Given the description of an element on the screen output the (x, y) to click on. 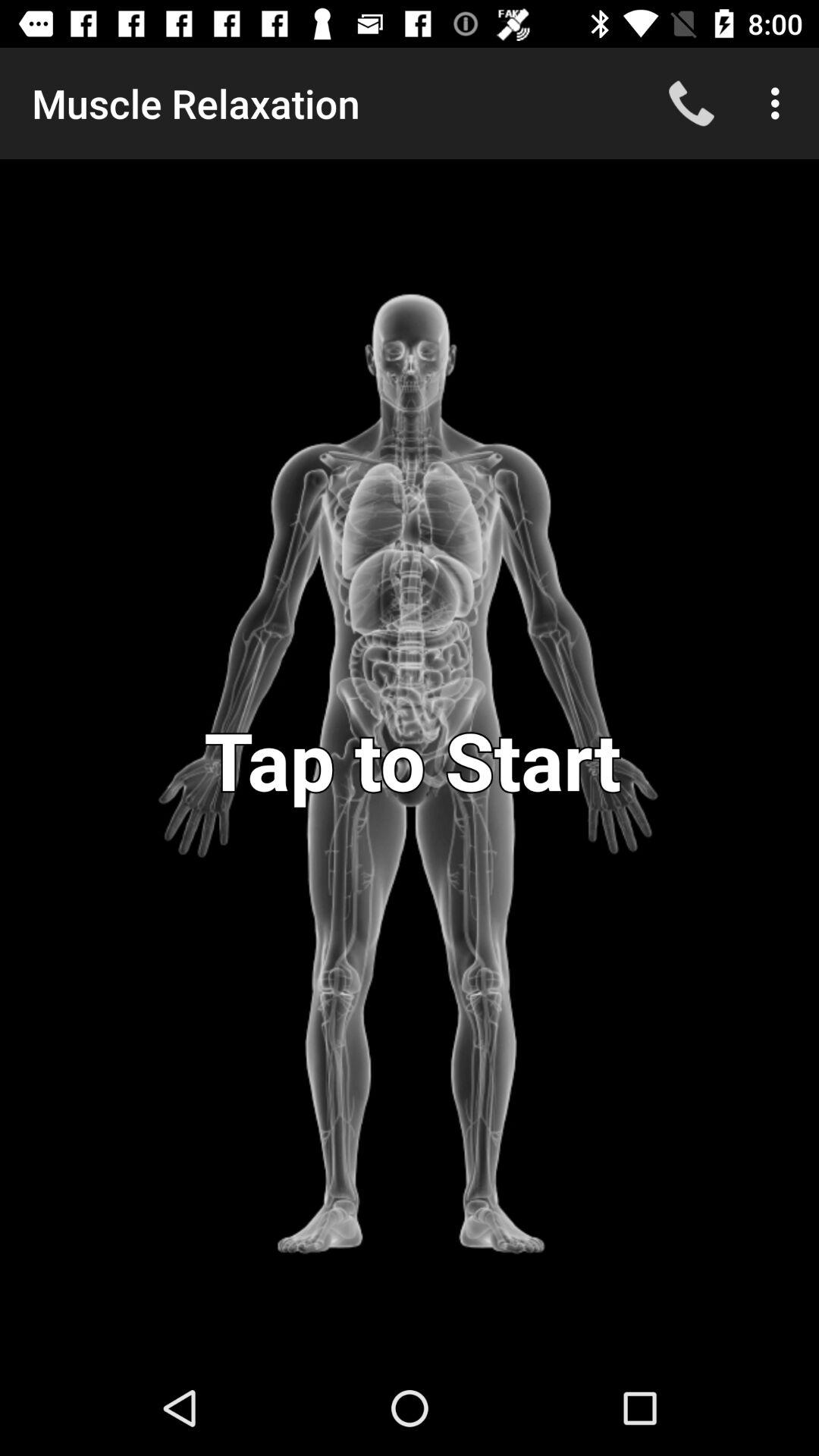
turn off app to the right of muscle relaxation item (691, 103)
